Given the description of an element on the screen output the (x, y) to click on. 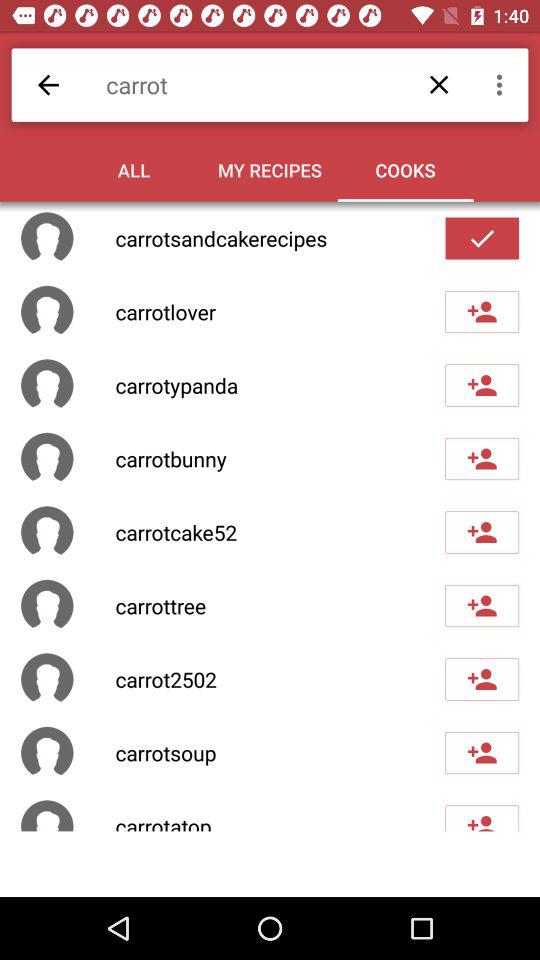
add friend (482, 753)
